Given the description of an element on the screen output the (x, y) to click on. 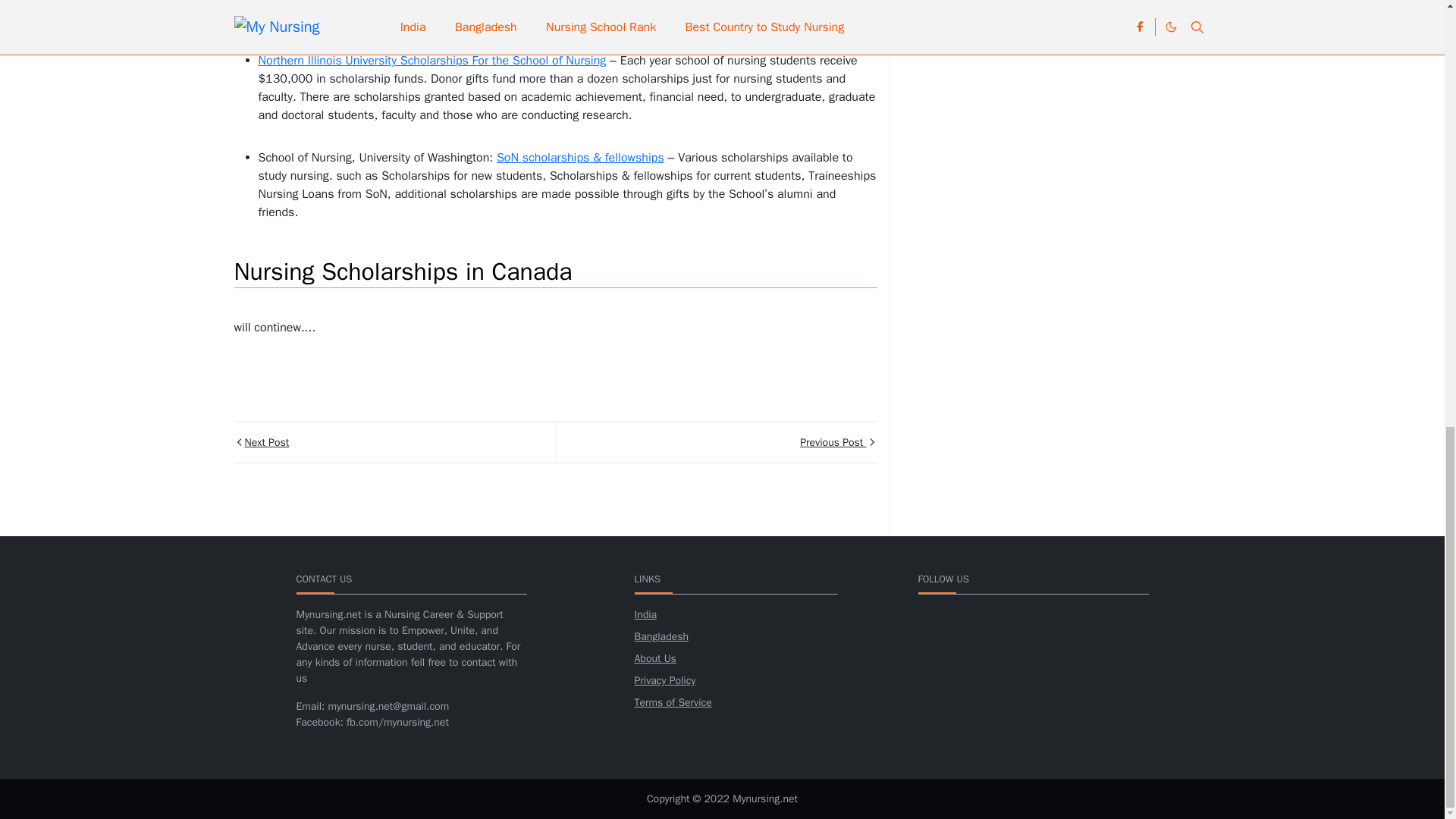
Previous Post (715, 442)
Next Post (393, 442)
